Given the description of an element on the screen output the (x, y) to click on. 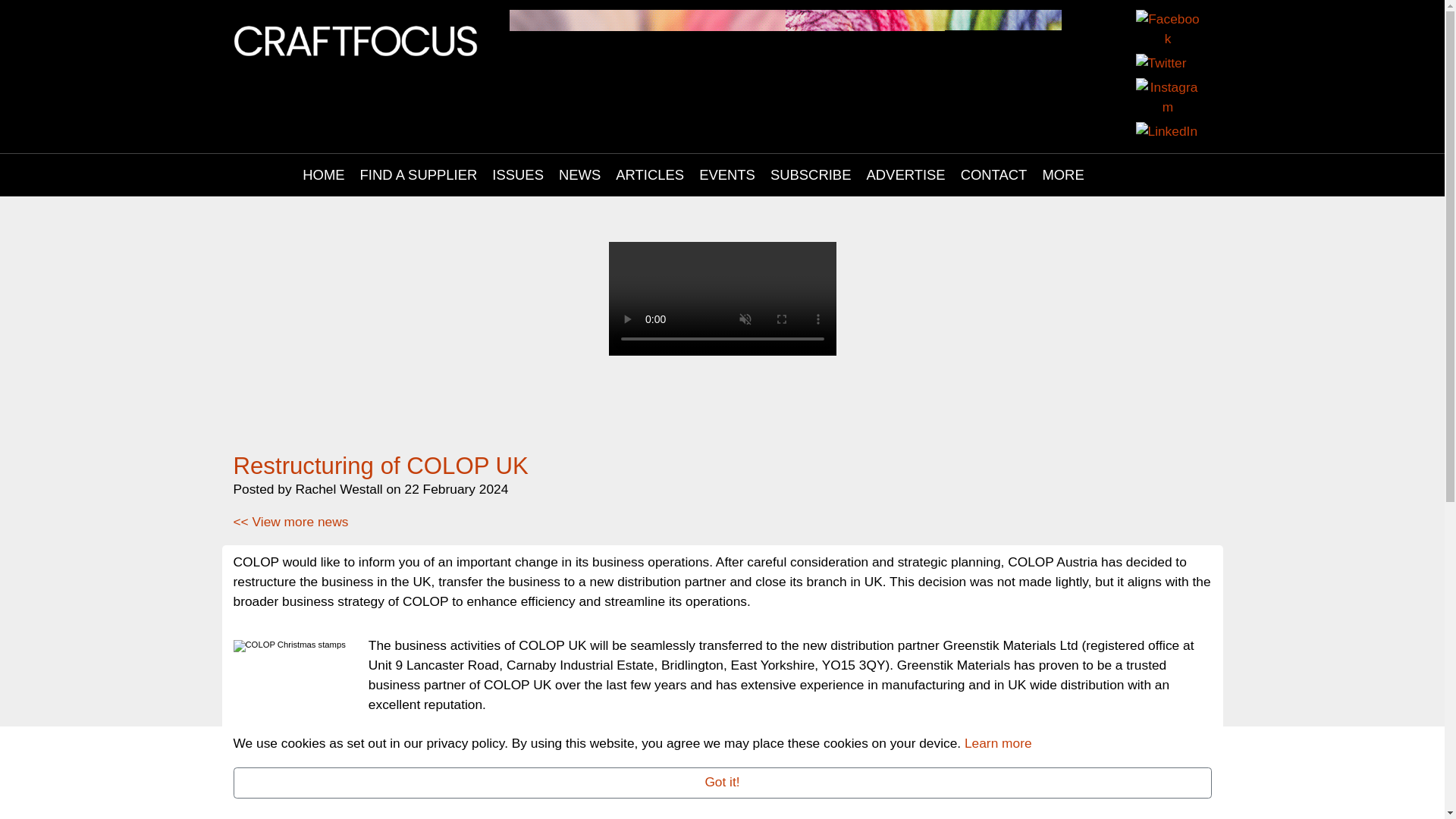
Learn more (997, 743)
HOME (322, 174)
Craft Focus (355, 39)
Follow us on LinkedIn (1166, 133)
search (1120, 174)
View more news (290, 521)
Follow us on Twitter (1160, 64)
Subscription is FREE of charge to all UK based traders (721, 350)
Follow us on Instagram (1167, 99)
Find us on Facebook (1167, 30)
Got it! (721, 782)
FIND A SUPPLIER (418, 174)
Autumn Fair (785, 46)
